Given the description of an element on the screen output the (x, y) to click on. 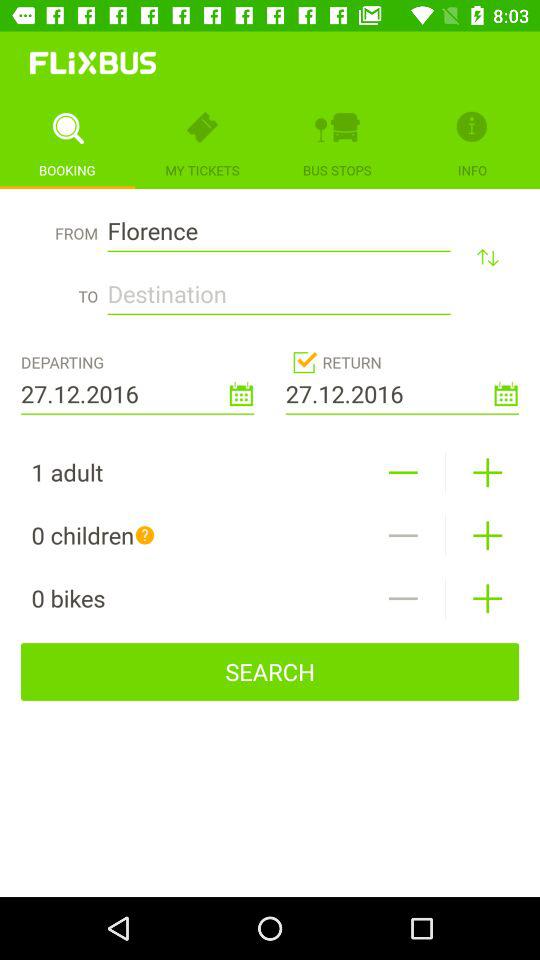
remove traveler (402, 535)
